Given the description of an element on the screen output the (x, y) to click on. 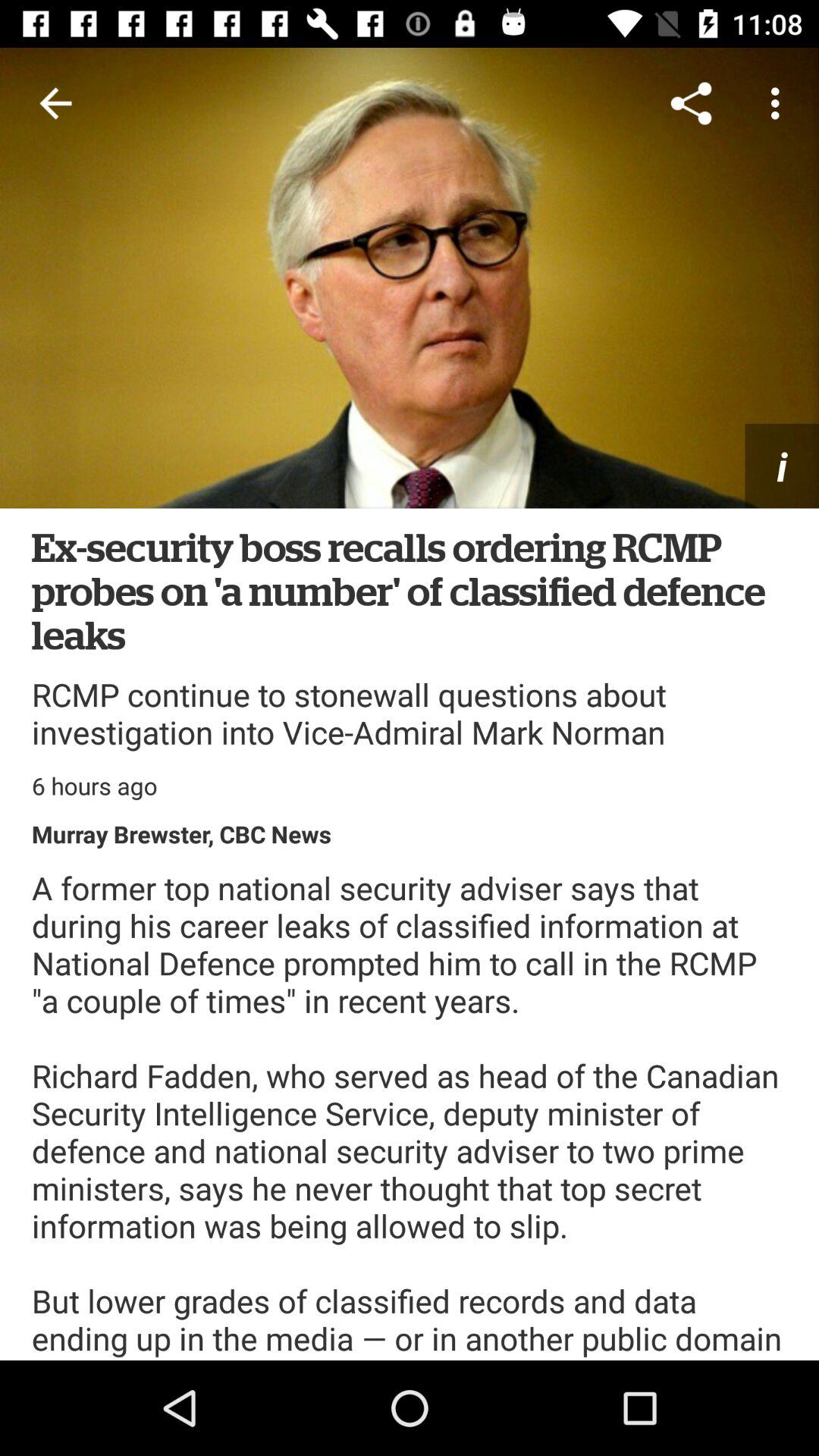
launch i (782, 465)
